Given the description of an element on the screen output the (x, y) to click on. 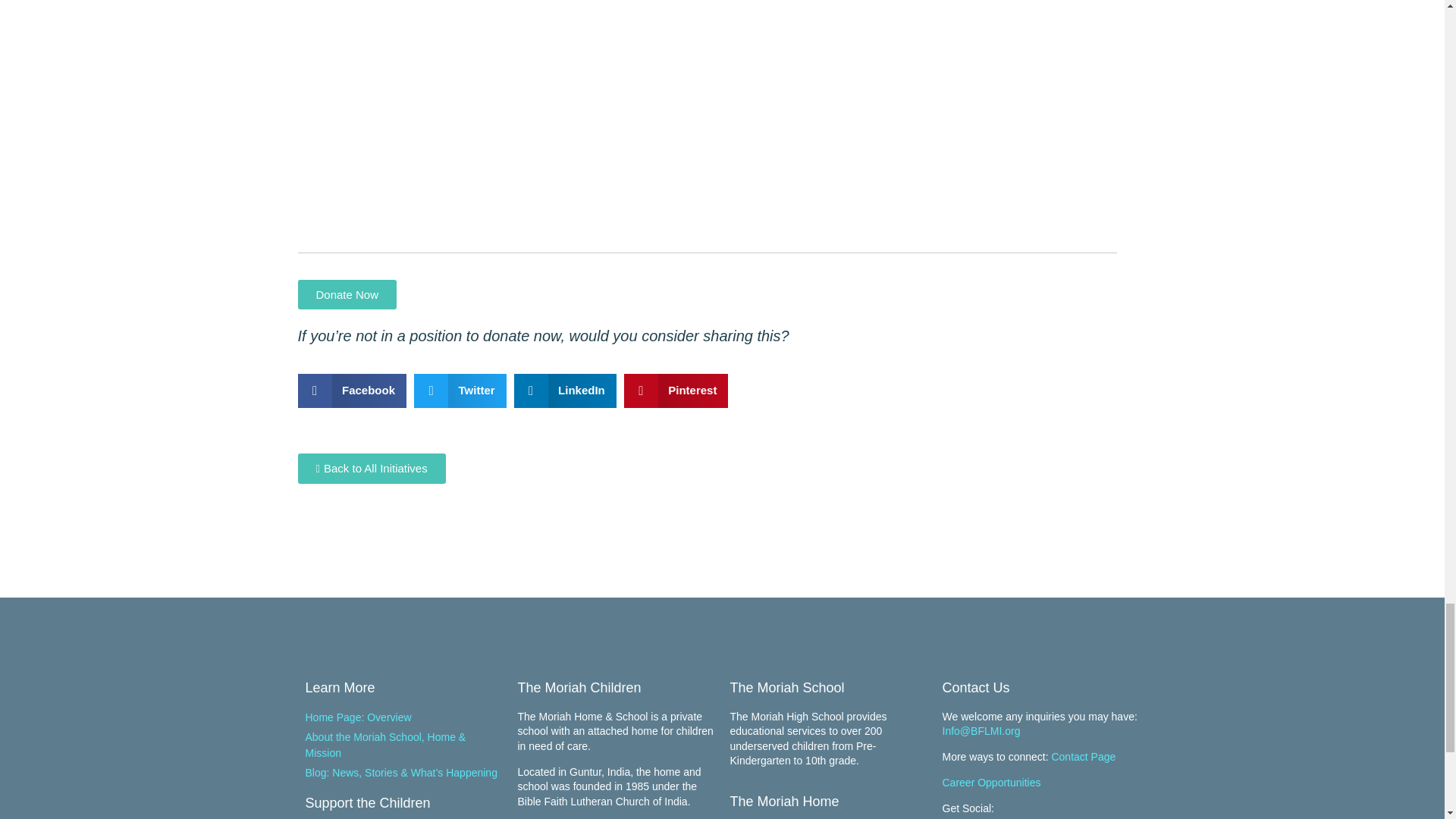
Back to All Initiatives (371, 468)
Donate Now (346, 294)
Home Page: Overview (403, 717)
